Given the description of an element on the screen output the (x, y) to click on. 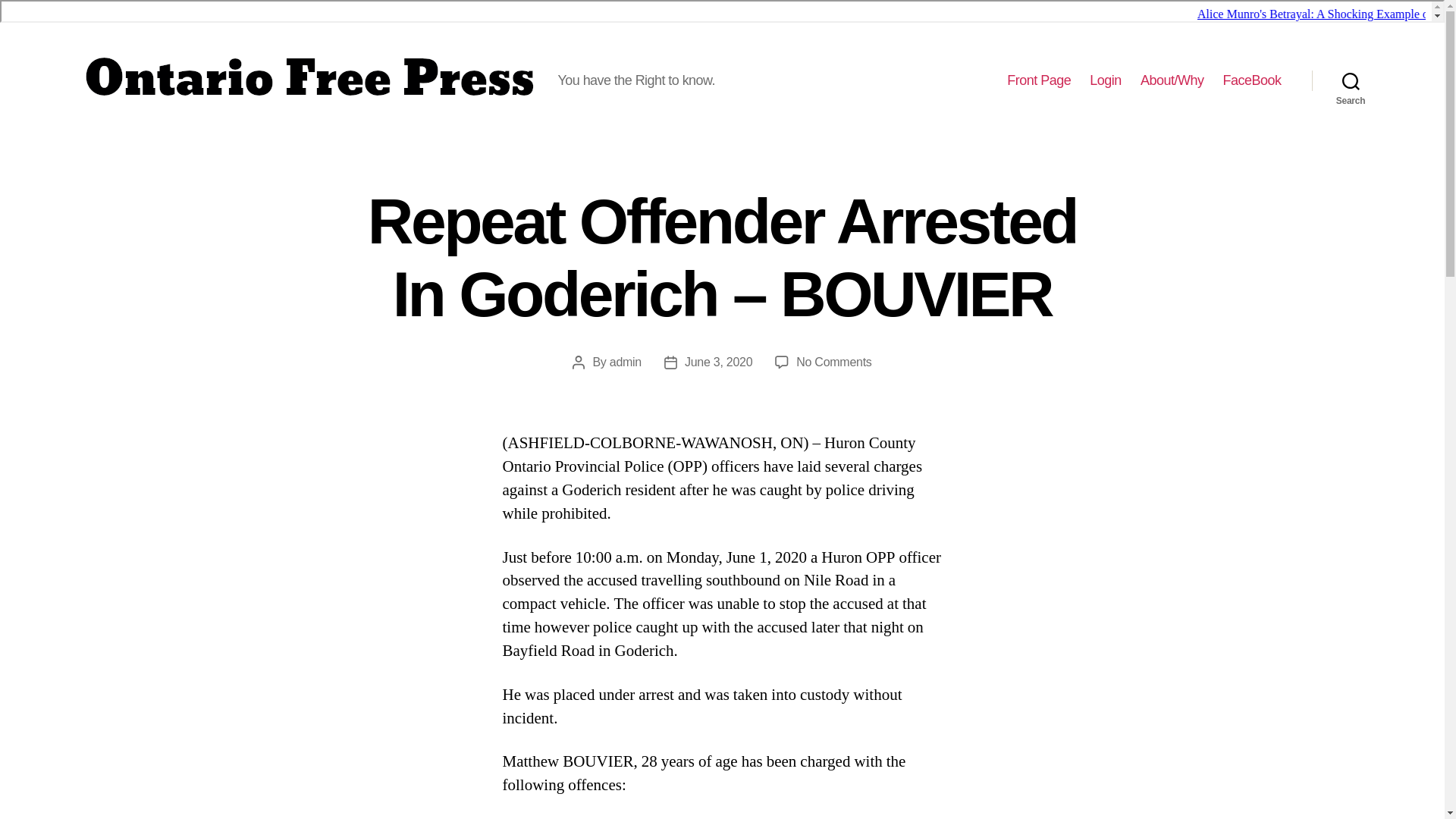
Login (1105, 80)
June 3, 2020 (718, 361)
Front Page (1038, 80)
Search (1350, 80)
FaceBook (1252, 80)
admin (626, 361)
